Given the description of an element on the screen output the (x, y) to click on. 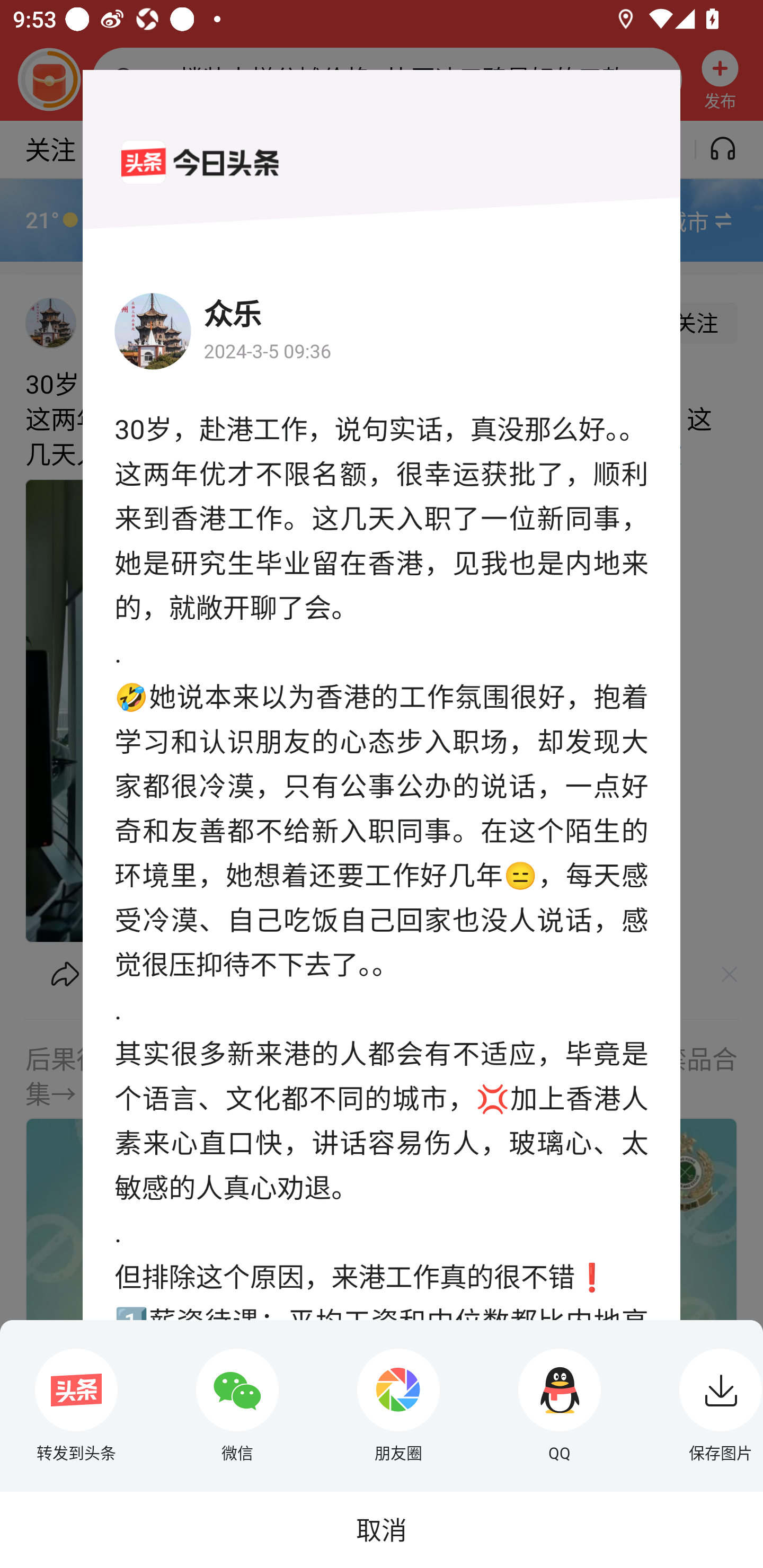
转发到头条 (76, 1405)
微信 (237, 1405)
朋友圈 (398, 1405)
QQ (559, 1405)
保存图片 (716, 1405)
取消 (381, 1529)
